Given the description of an element on the screen output the (x, y) to click on. 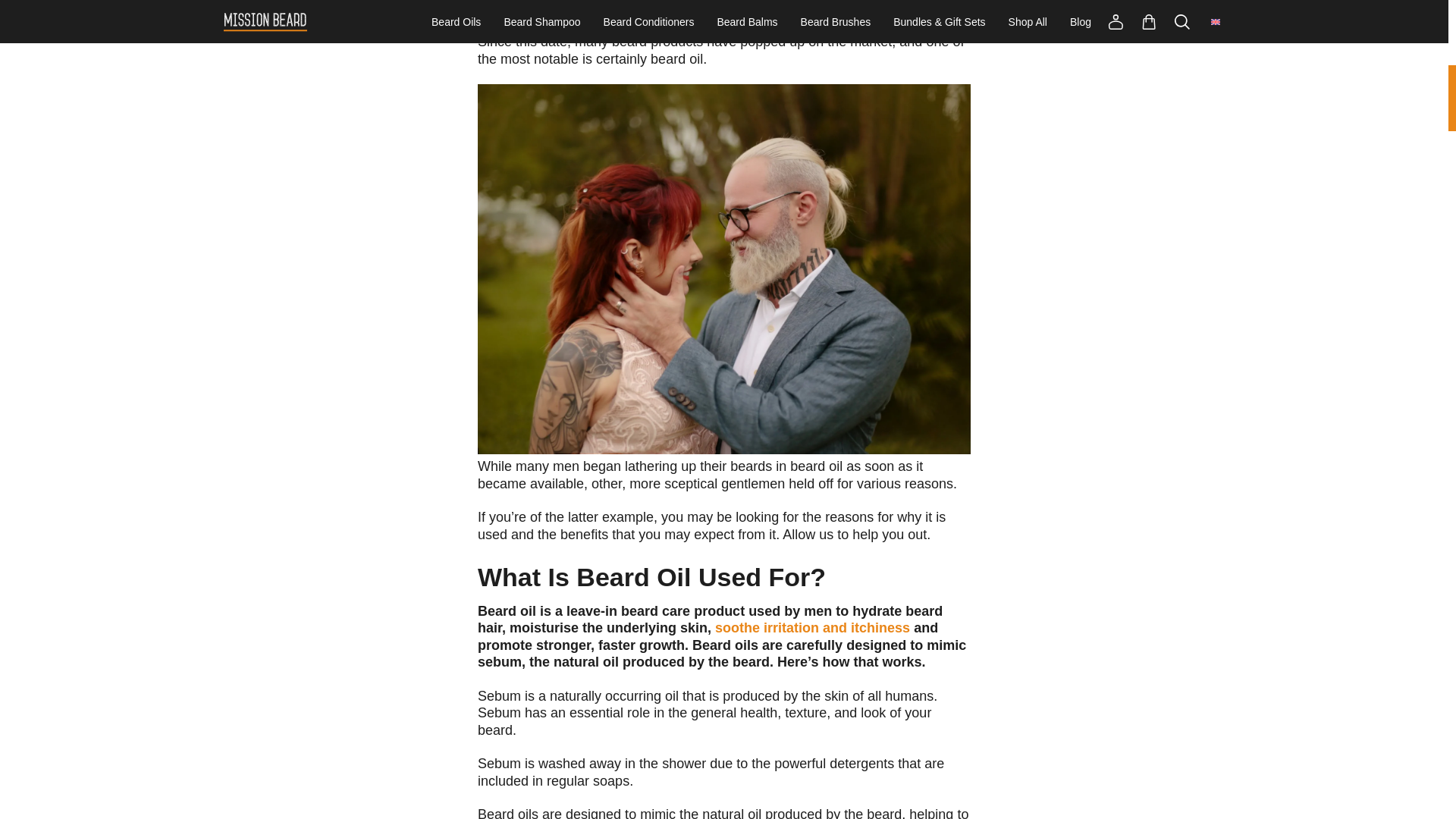
soothe irritation and itchiness (812, 627)
